Given the description of an element on the screen output the (x, y) to click on. 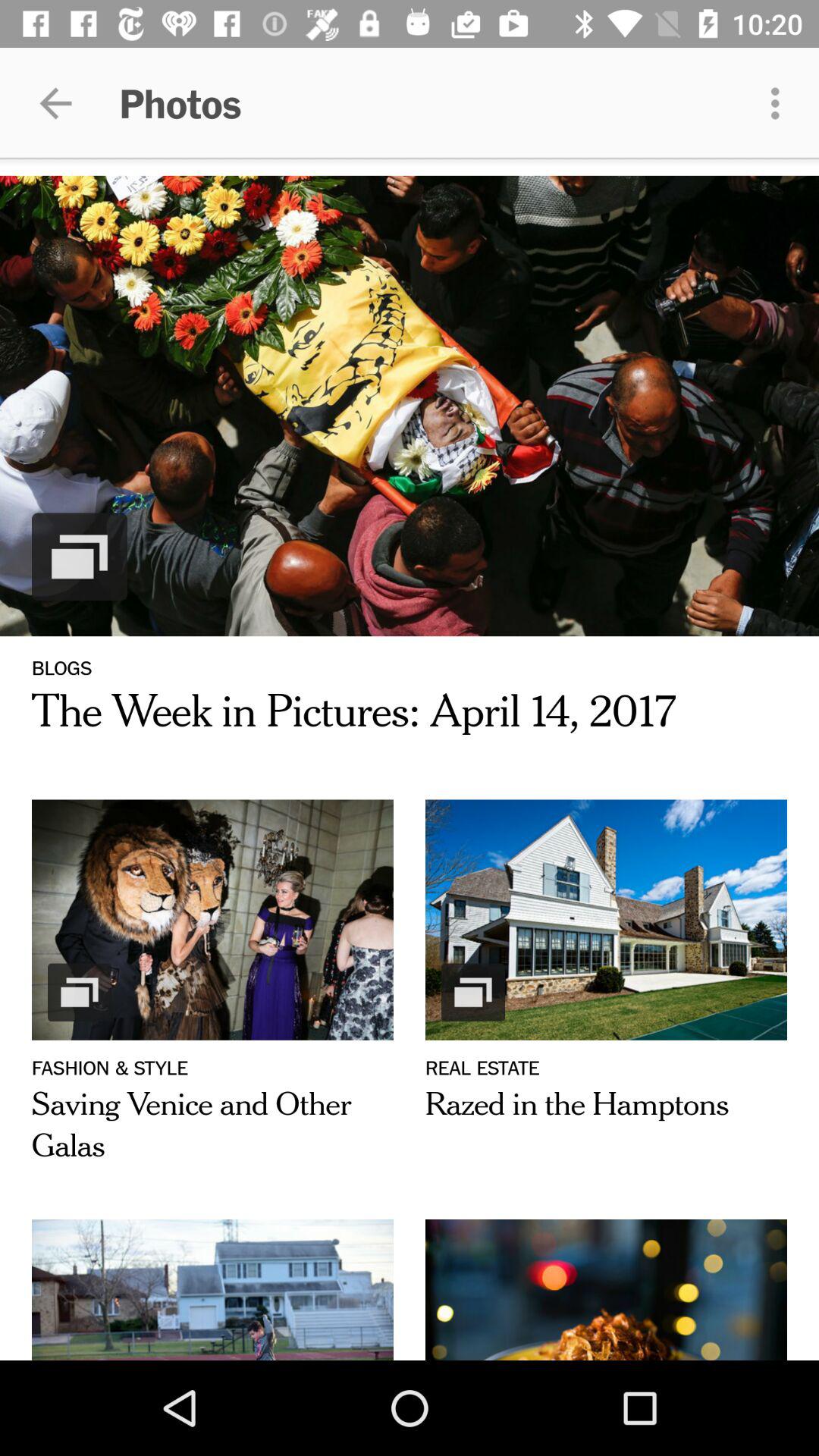
click on the image above real estate text (606, 920)
click on the icon above the text fashion  style (79, 992)
select more images symbol which is above real estate (473, 992)
select the three dot icon on top right corner (779, 103)
